Given the description of an element on the screen output the (x, y) to click on. 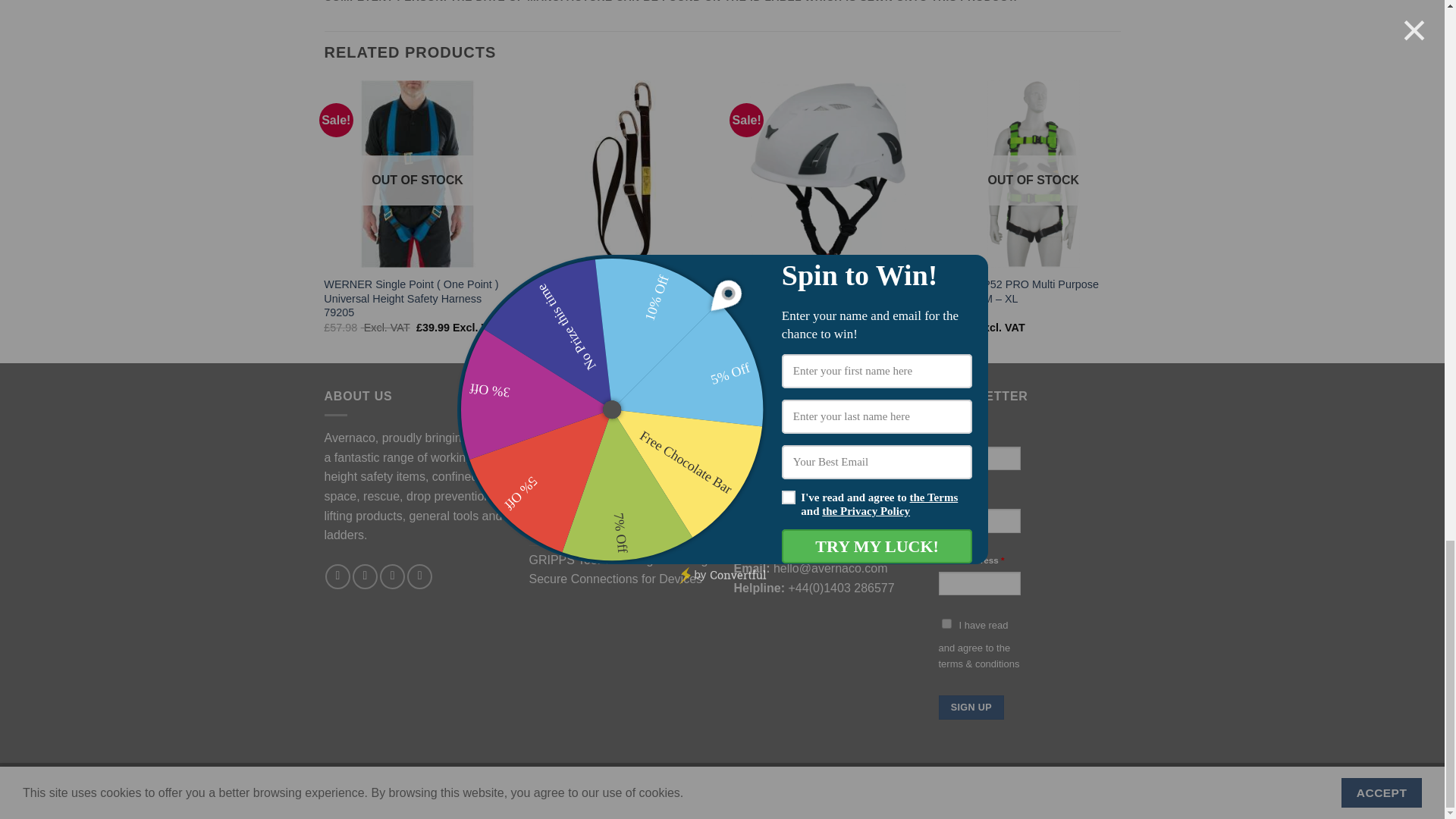
Sign Up (971, 707)
on (947, 623)
